Given the description of an element on the screen output the (x, y) to click on. 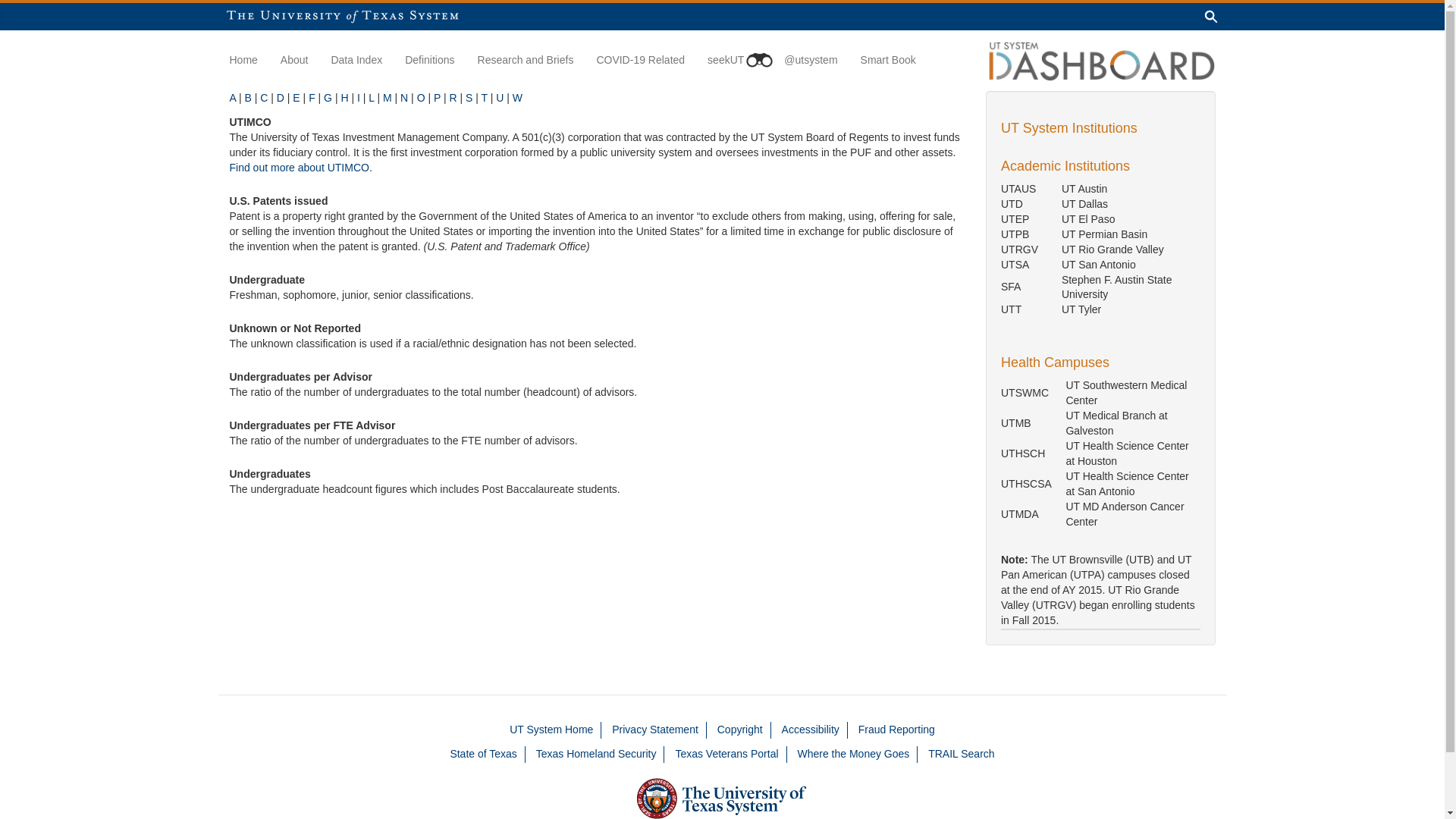
seekUT (734, 59)
Data Index (355, 59)
UT System Home (550, 729)
UT System Dashboard Home (1100, 59)
Accessibility (810, 729)
COVID-19 Related (640, 59)
Definitions (429, 59)
Research and Briefs (525, 59)
Home (243, 59)
Copyright (740, 729)
